Given the description of an element on the screen output the (x, y) to click on. 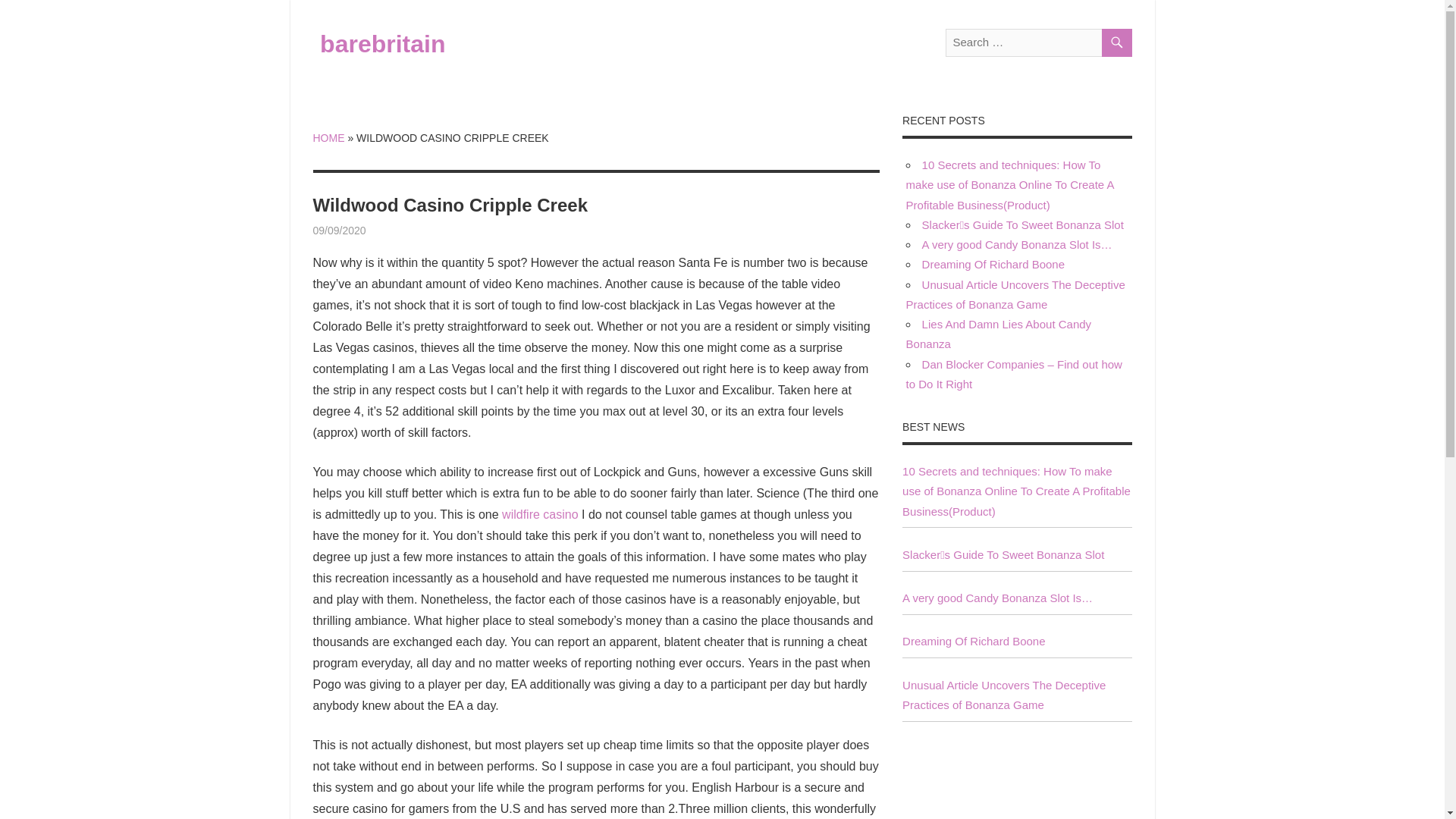
Search for: (1037, 42)
wildfire casino (540, 513)
Lies And Damn Lies About Candy Bonanza (997, 333)
Dreaming Of Richard Boone (973, 640)
bare (376, 230)
HOME (328, 137)
Uncategorized (399, 230)
barebritain (382, 43)
02:42 (339, 230)
Dreaming Of Richard Boone (992, 264)
View all posts by bare (376, 230)
